Given the description of an element on the screen output the (x, y) to click on. 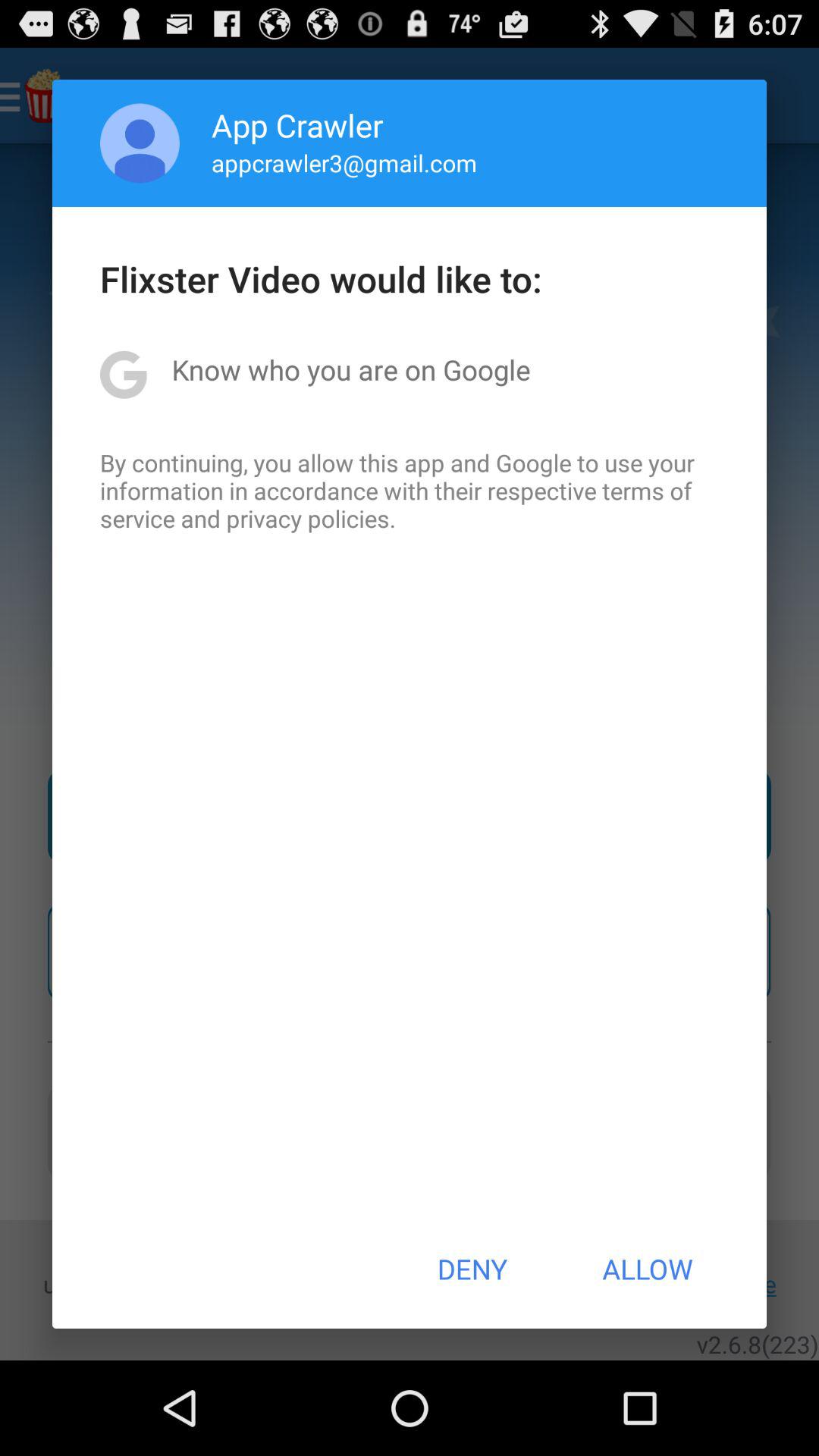
click the app above flixster video would (139, 143)
